Given the description of an element on the screen output the (x, y) to click on. 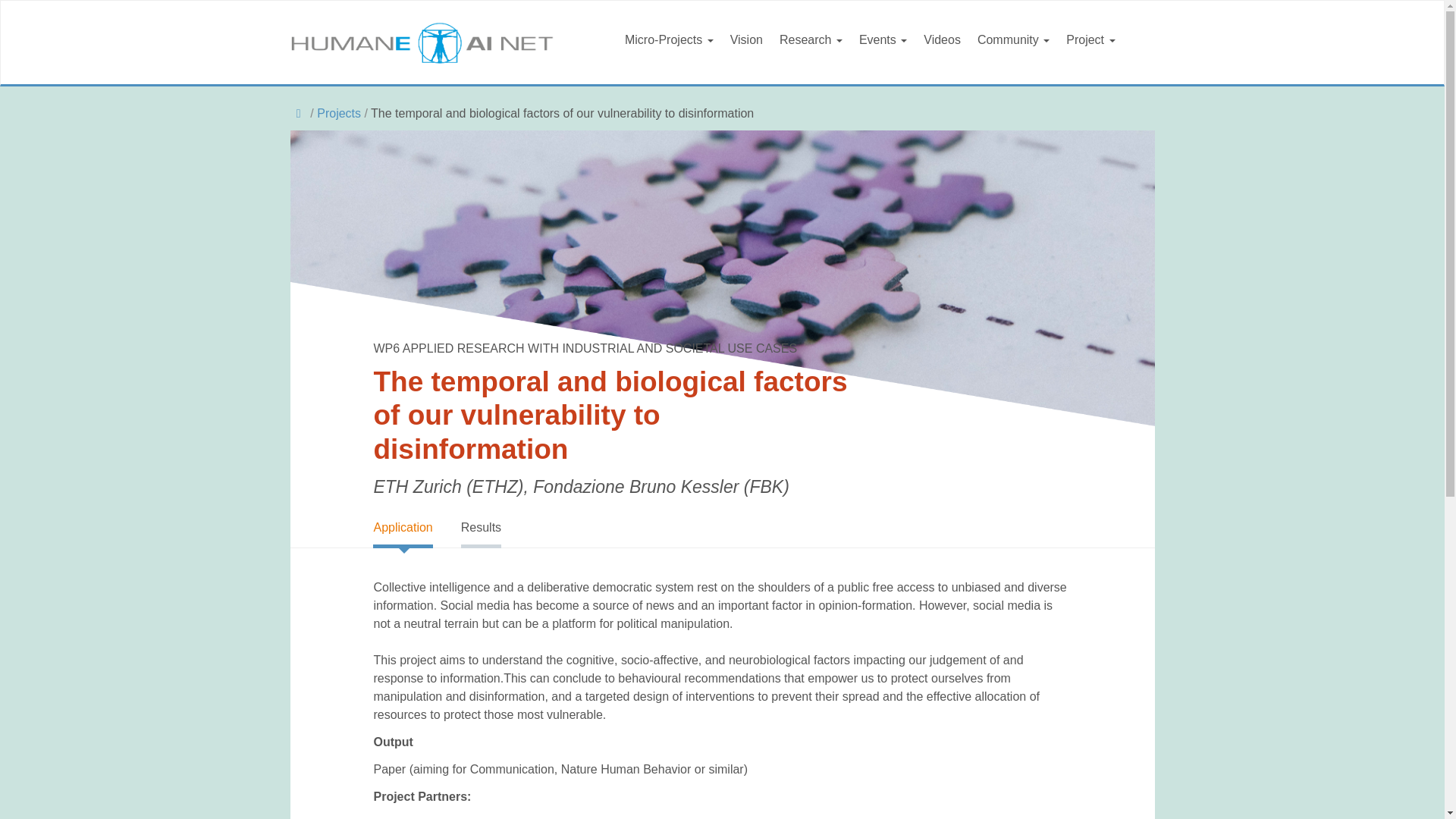
Micro-Projects (668, 44)
Research (810, 44)
Micro-Projects (668, 44)
Community (1012, 44)
Research (810, 44)
